Given the description of an element on the screen output the (x, y) to click on. 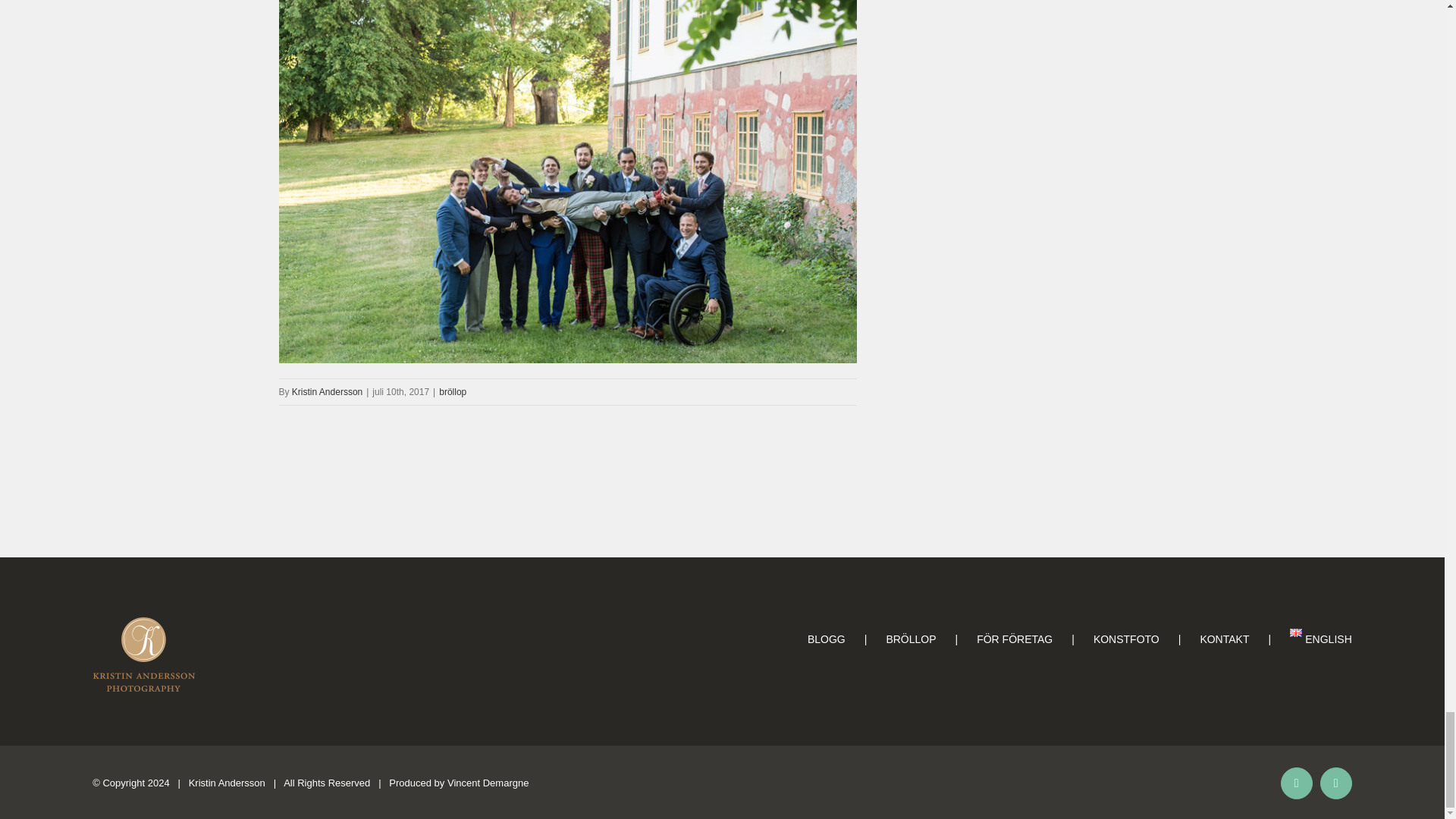
Kristin Andersson (327, 391)
